Given the description of an element on the screen output the (x, y) to click on. 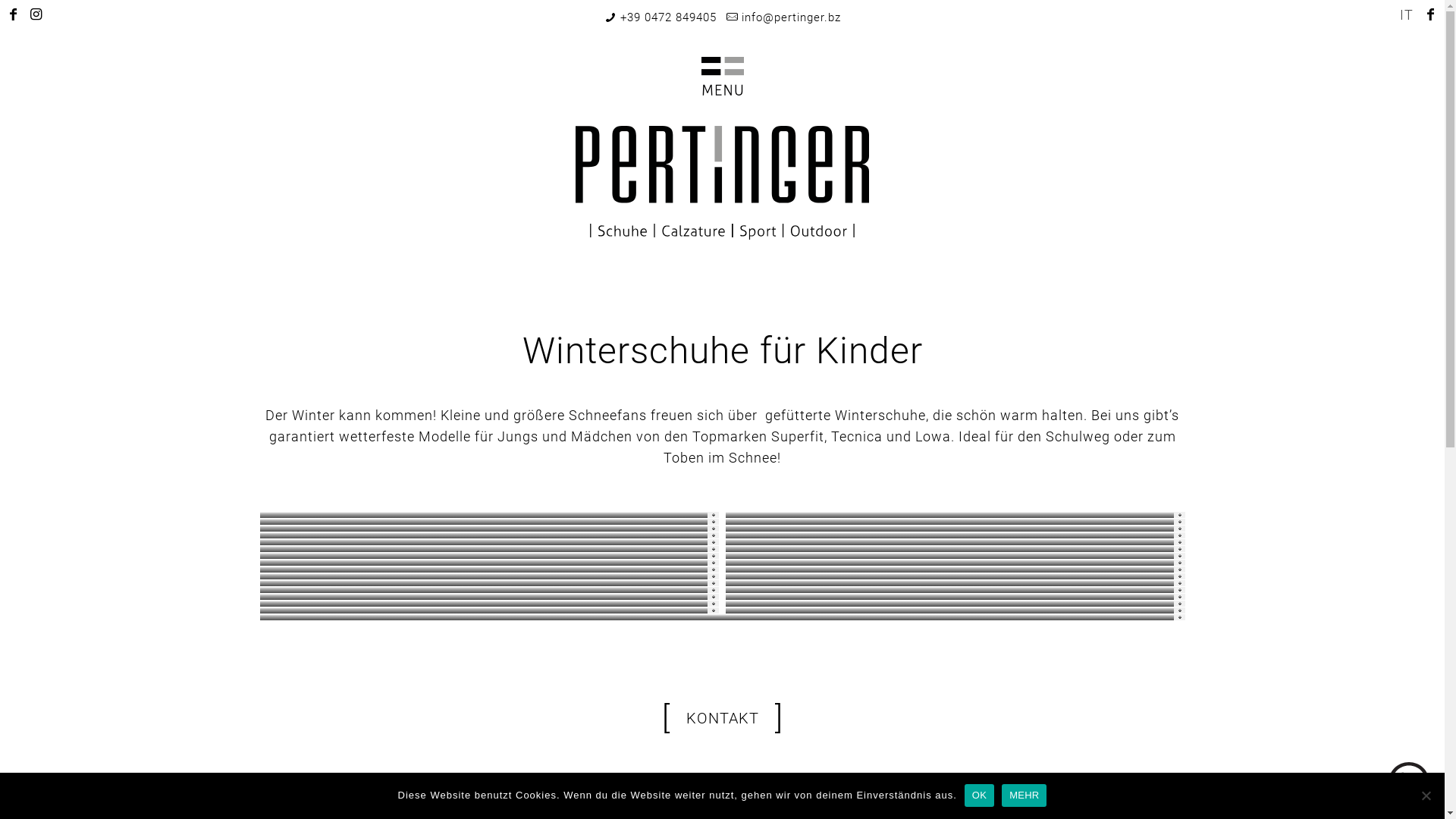
MEHR Element type: text (1023, 795)
info@pertinger.bz Element type: text (790, 17)
Instagram Element type: hover (35, 13)
Facebook Element type: hover (12, 13)
Nein Element type: hover (1425, 795)
[ KONTAKT ] Element type: text (721, 720)
Facebook Element type: hover (1430, 13)
IT Element type: text (1406, 14)
OK Element type: text (979, 795)
+39 0472 849405 Element type: text (668, 17)
